Given the description of an element on the screen output the (x, y) to click on. 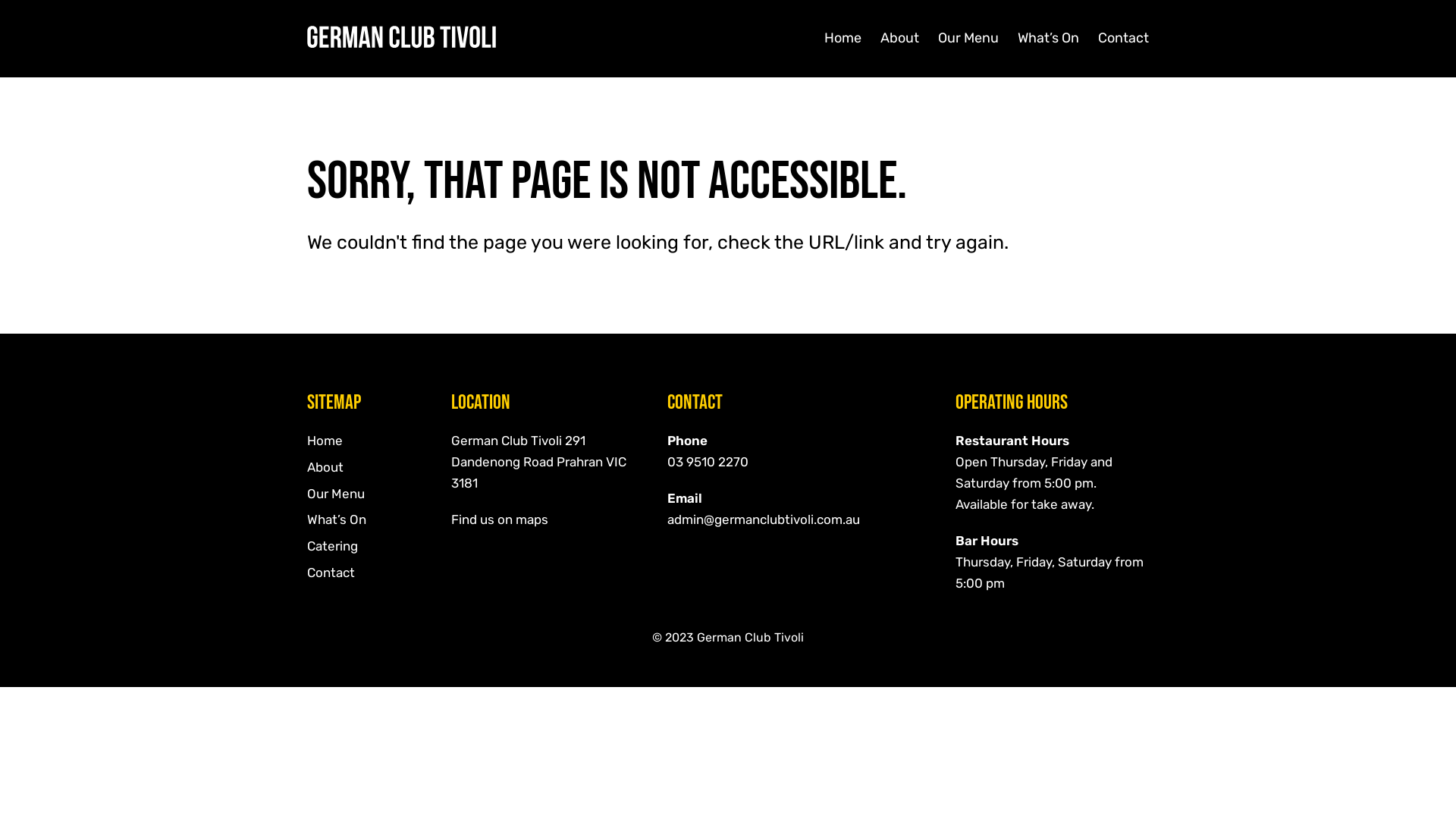
Home Element type: text (324, 440)
Contact Element type: text (330, 572)
About Element type: text (899, 37)
Catering Element type: text (332, 545)
About Element type: text (325, 466)
Find us on maps Element type: text (499, 519)
Our Menu Element type: text (335, 493)
Contact Element type: text (1123, 37)
Our Menu Element type: text (968, 37)
Home Element type: text (842, 37)
03 9510 2270 Element type: text (707, 461)
admin@germanclubtivoli.com.au Element type: text (763, 519)
